Given the description of an element on the screen output the (x, y) to click on. 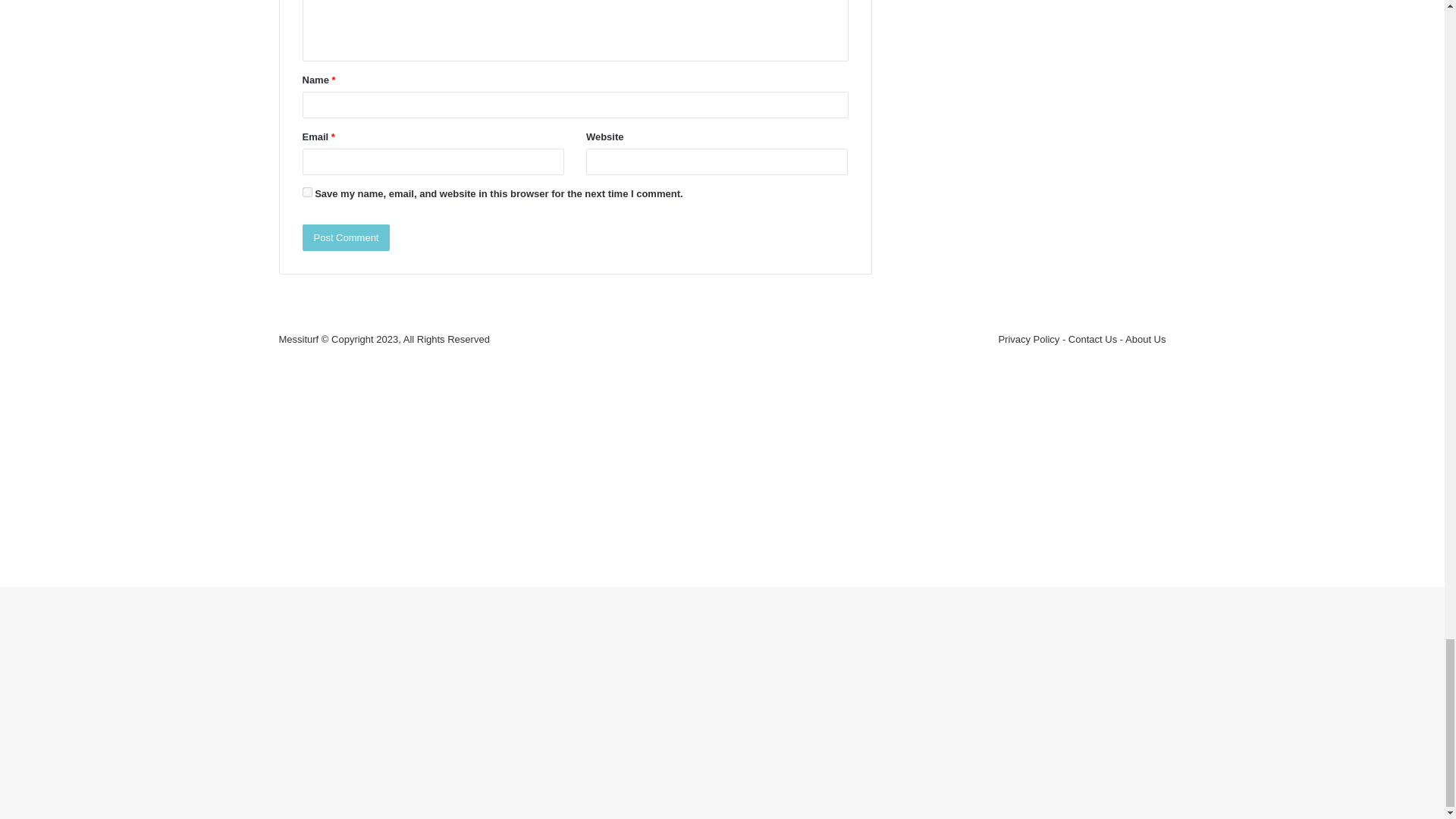
yes (306, 192)
Post Comment (345, 237)
